Given the description of an element on the screen output the (x, y) to click on. 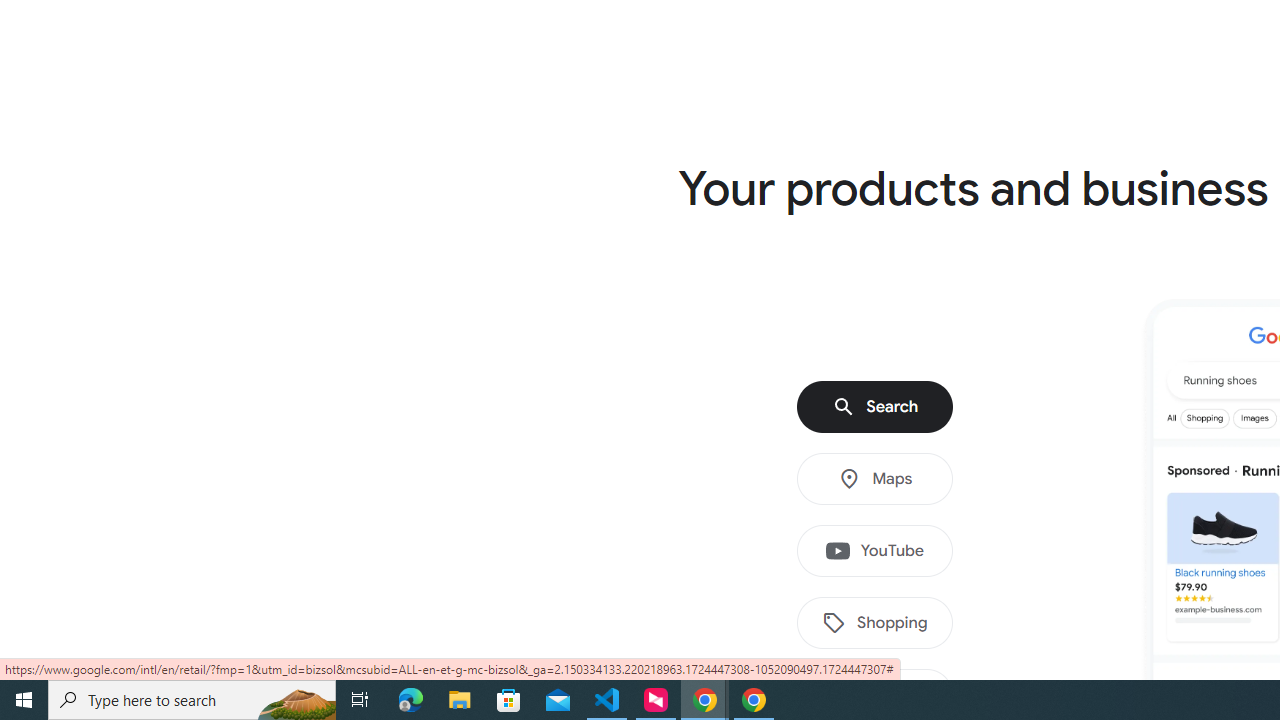
Shopping (875, 623)
YouTube (875, 551)
Maps (875, 479)
